Given the description of an element on the screen output the (x, y) to click on. 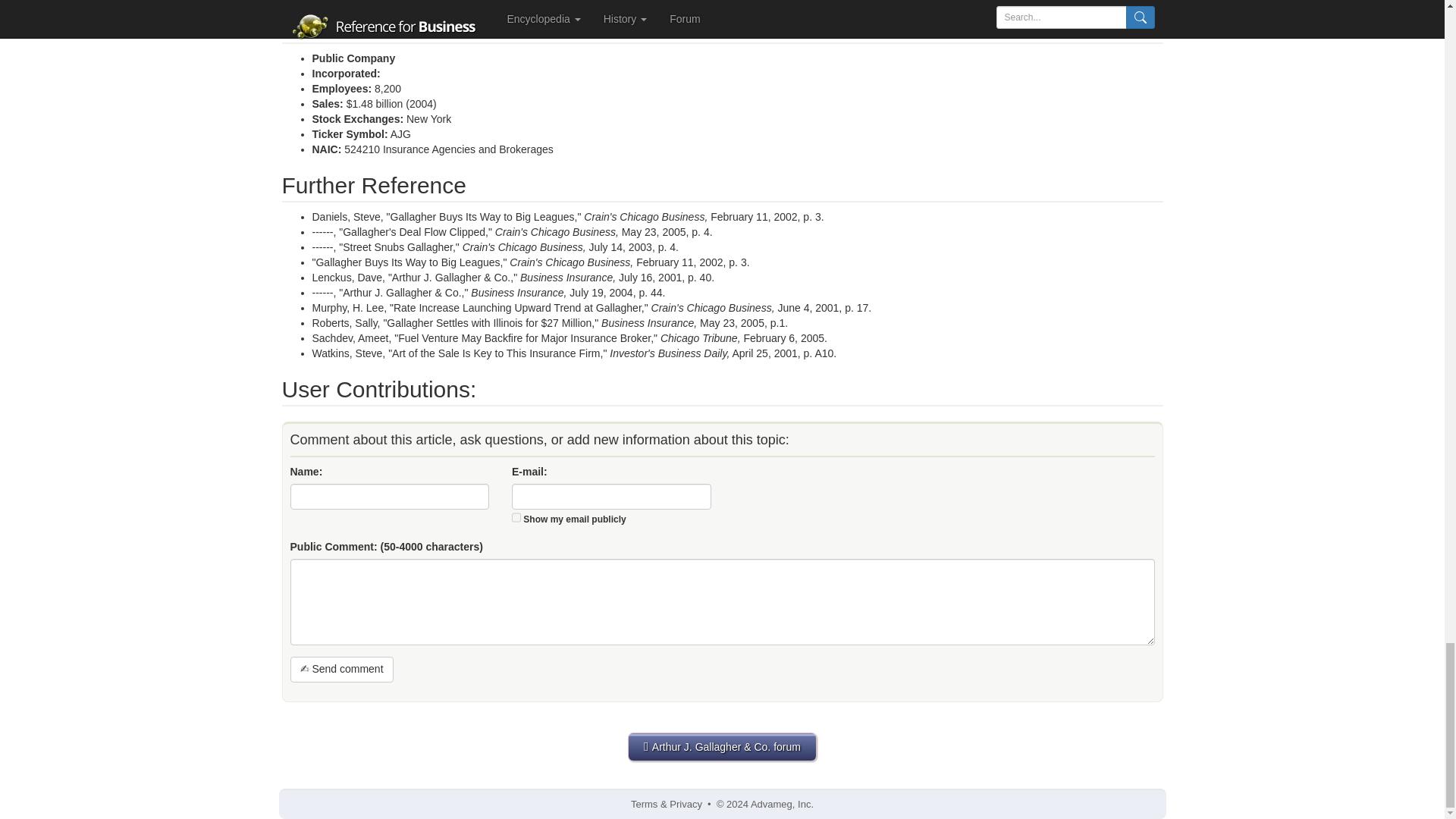
1 (516, 517)
